Given the description of an element on the screen output the (x, y) to click on. 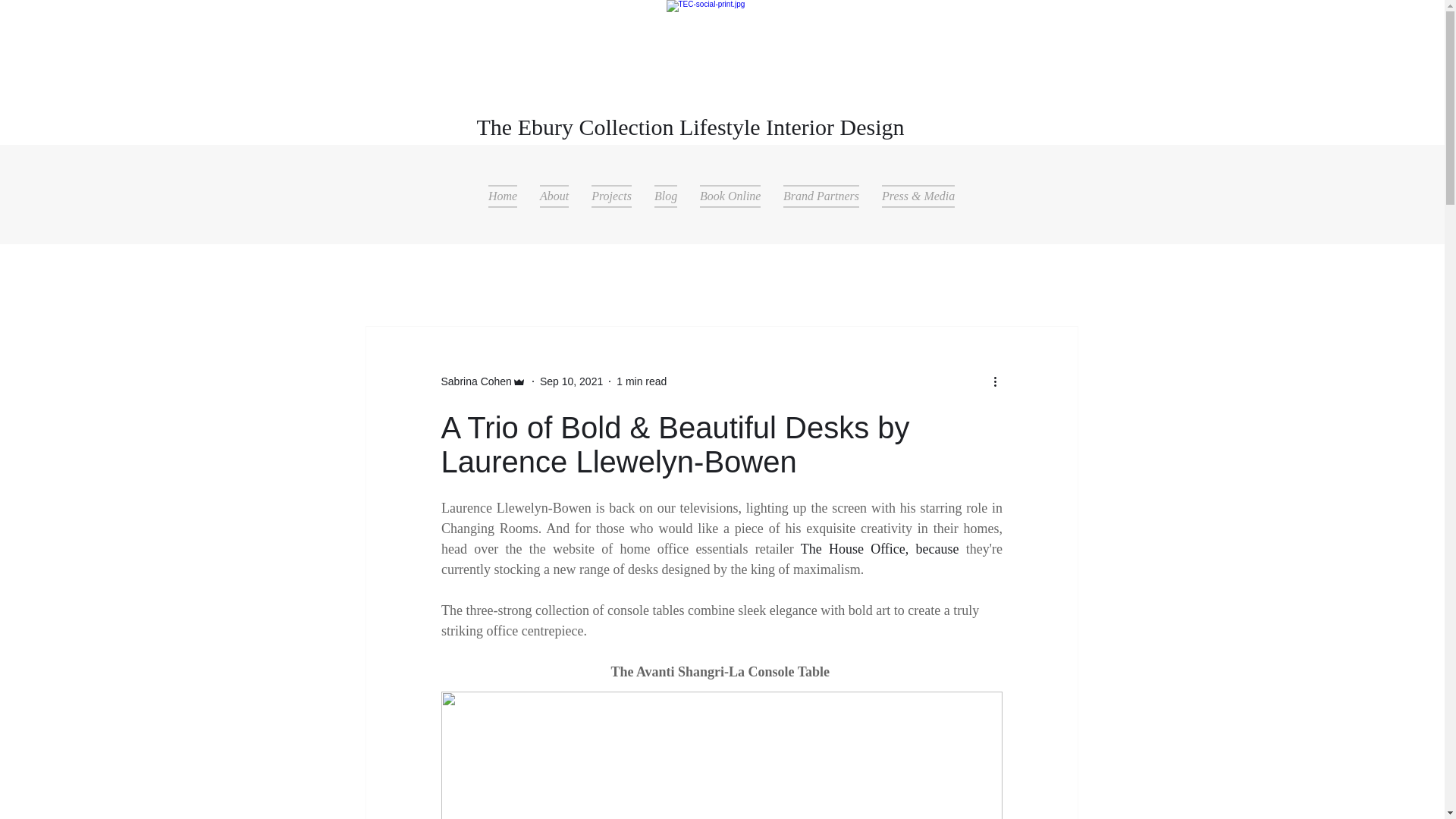
Lighting (756, 280)
Soft Furnishings (571, 280)
Accessories (846, 280)
Book Online (729, 196)
About (553, 196)
Sabrina Cohen (476, 381)
Sep 10, 2021 (571, 380)
Home (502, 196)
Blog (665, 196)
1 min read (640, 380)
